Given the description of an element on the screen output the (x, y) to click on. 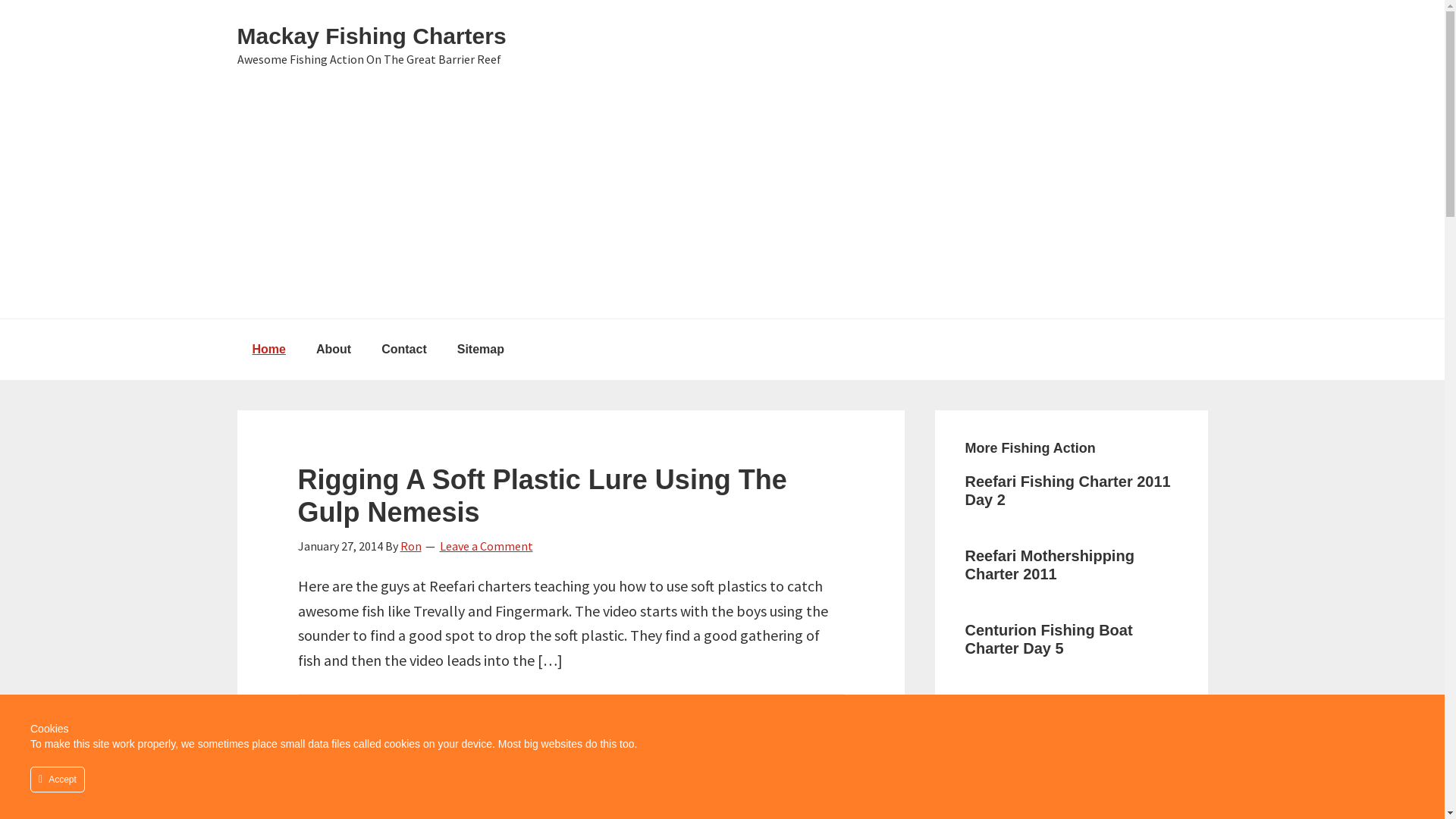
Centurion Fishing Boat Charter Day 5 Element type: text (1048, 638)
Contact Element type: text (404, 349)
Mackay Fishing Charters Element type: text (370, 35)
Reefari Fishing Charter 2011 Day 2 Element type: text (1067, 490)
Sitemap Element type: text (480, 349)
Skip to primary navigation Element type: text (0, 0)
Centurion Fishing Charter Day 3 Element type: text (1058, 787)
Home Element type: text (268, 349)
Leave a Comment Element type: text (486, 545)
fishing mackay Element type: text (399, 722)
Advertisement Element type: hover (721, 204)
Ron Element type: text (410, 545)
About Element type: text (333, 349)
Rigging A Soft Plastic Lure Using The Gulp Nemesis Element type: text (541, 495)
Reefari Mothershipping Charter 2011 Element type: text (1048, 564)
Centurion Boat Charter Day 4 Element type: text (1064, 713)
